Given the description of an element on the screen output the (x, y) to click on. 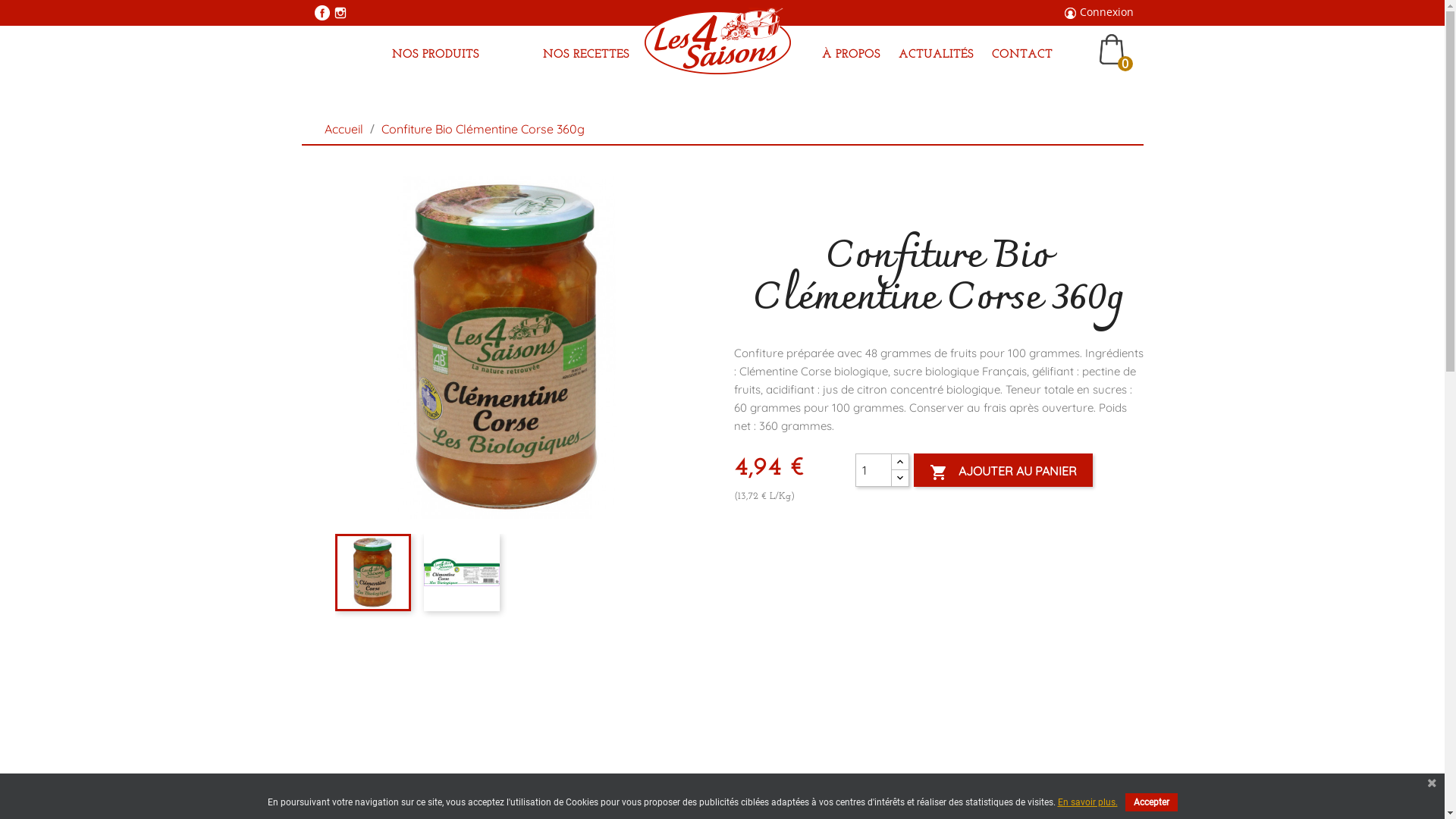
Facebook Element type: text (321, 12)
Accueil Element type: text (345, 128)
NOS PRODUITS Element type: text (435, 55)
Connexion Element type: text (1106, 11)
En savoir plus. Element type: text (1087, 801)
Accepter Element type: text (1151, 802)
NOS RECETTES Element type: text (586, 55)
Instagram Element type: text (339, 12)
CONTACT Element type: text (1022, 55)
